Given the description of an element on the screen output the (x, y) to click on. 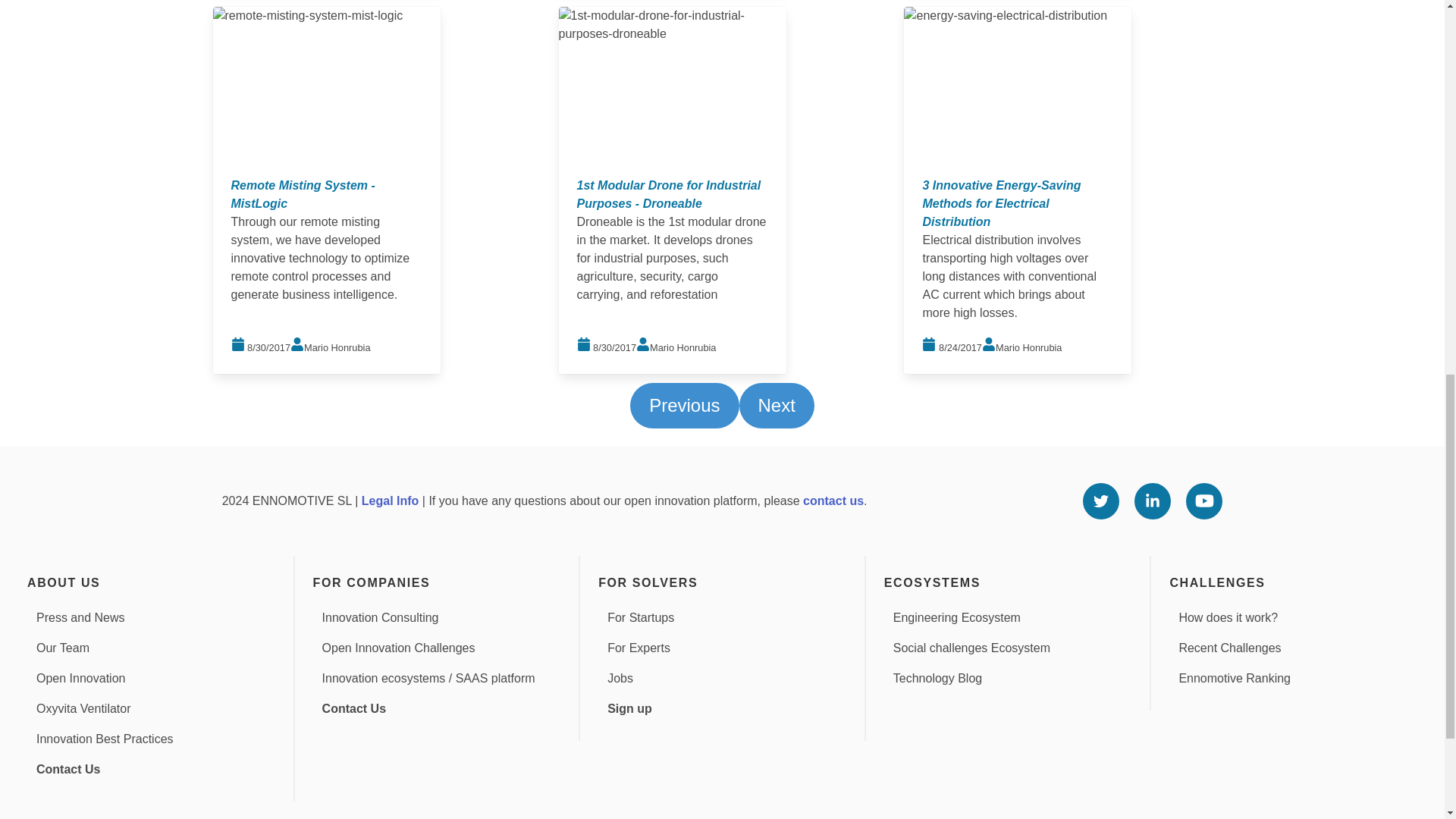
1st Modular Drone for Industrial Purposes - Droneable (668, 194)
Next (775, 405)
contact us (833, 500)
Remote Misting System - MistLogic (303, 194)
Previous (684, 405)
Legal Info (390, 500)
